Given the description of an element on the screen output the (x, y) to click on. 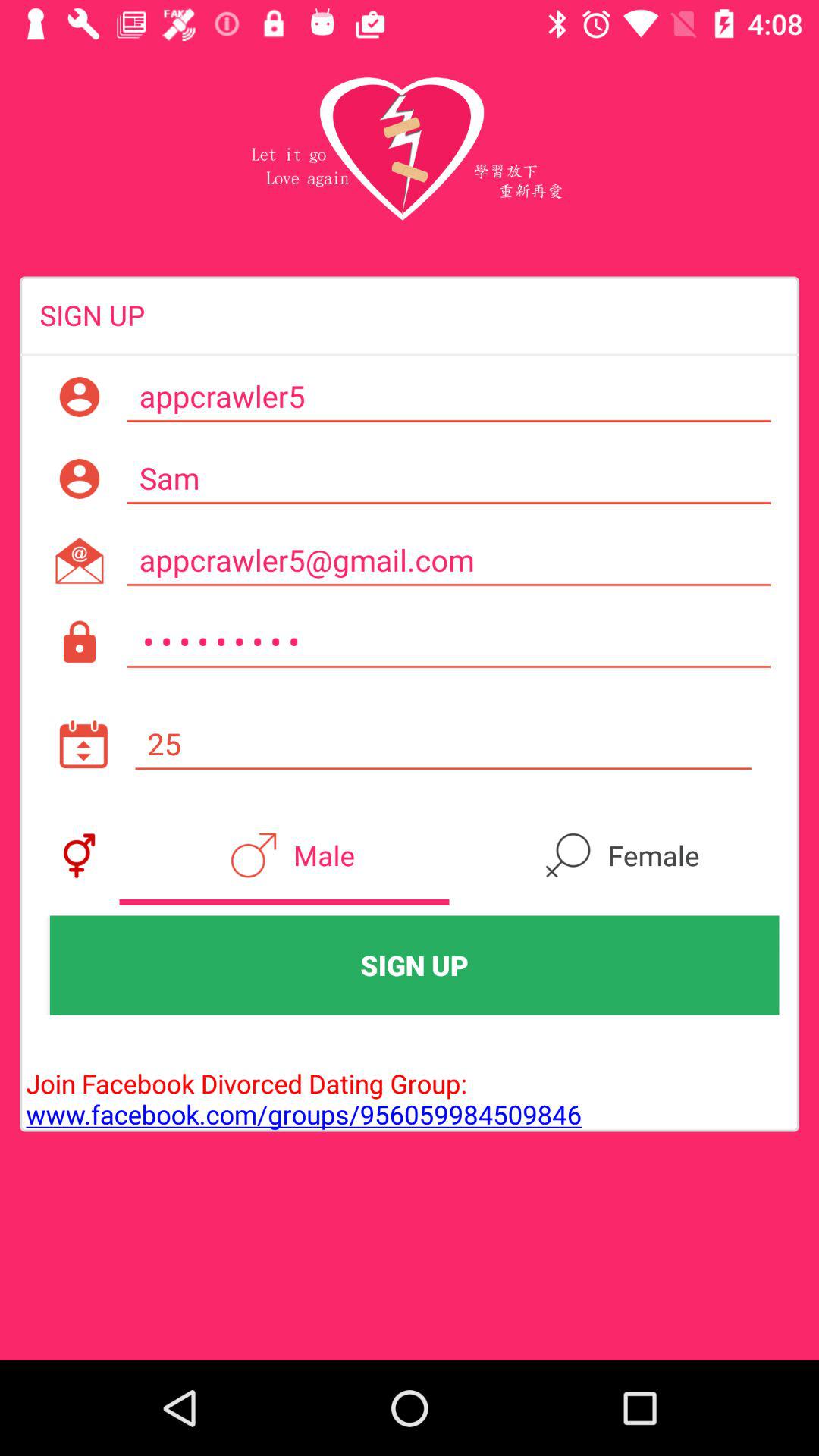
turn on the sam icon (449, 478)
